Given the description of an element on the screen output the (x, y) to click on. 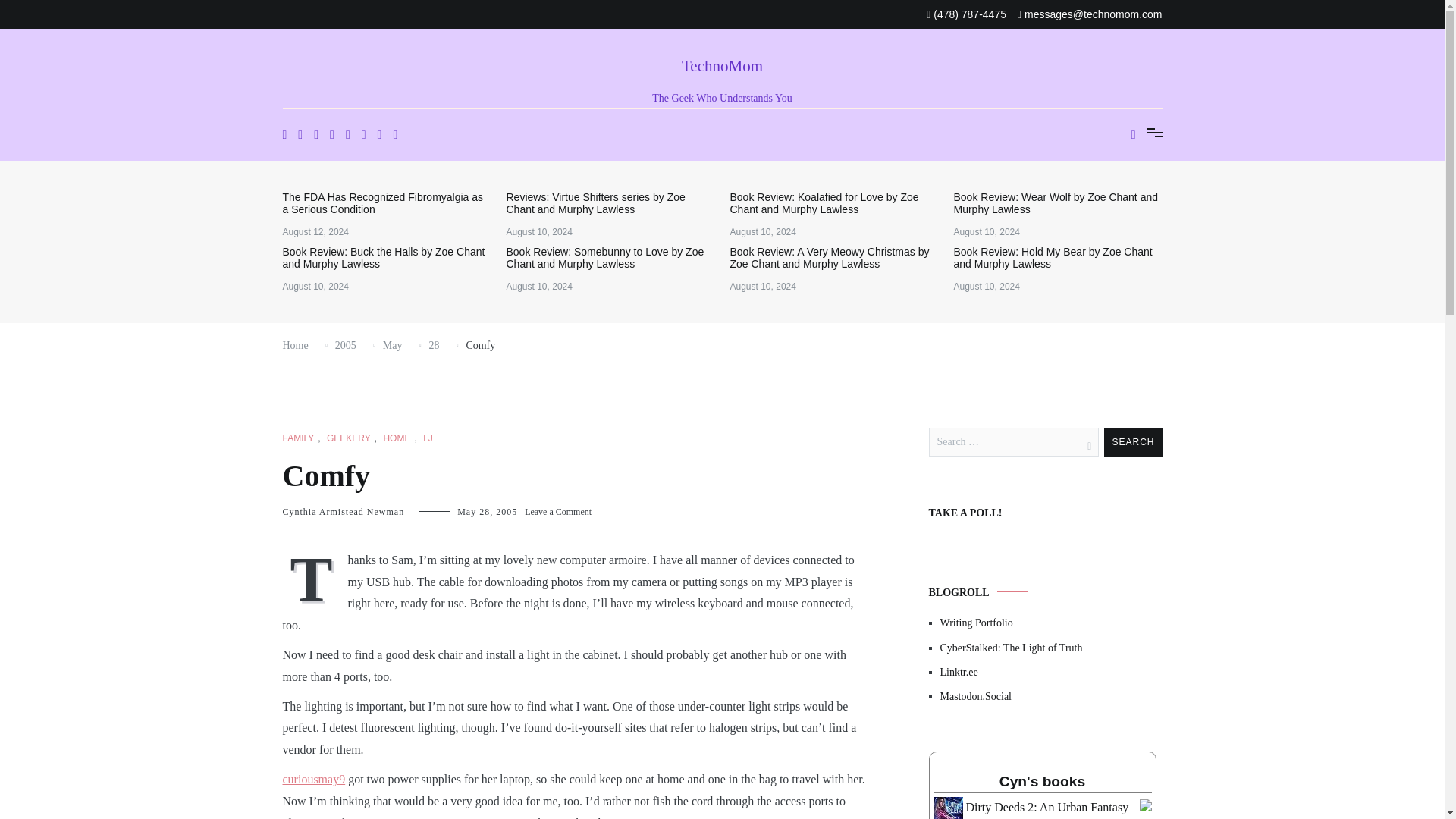
Book Review: Hold My Bear by Zoe Chant and Murphy Lawless (1057, 257)
Book Review: Buck the Halls by Zoe Chant and Murphy Lawless (386, 257)
FAMILY (298, 438)
HOME (396, 438)
T (314, 577)
Cynthia Armistead Newman (343, 511)
Search (1132, 441)
Home (294, 345)
Search (1132, 441)
Book Review: Wear Wolf by Zoe Chant and Murphy Lawless (1057, 202)
